Given the description of an element on the screen output the (x, y) to click on. 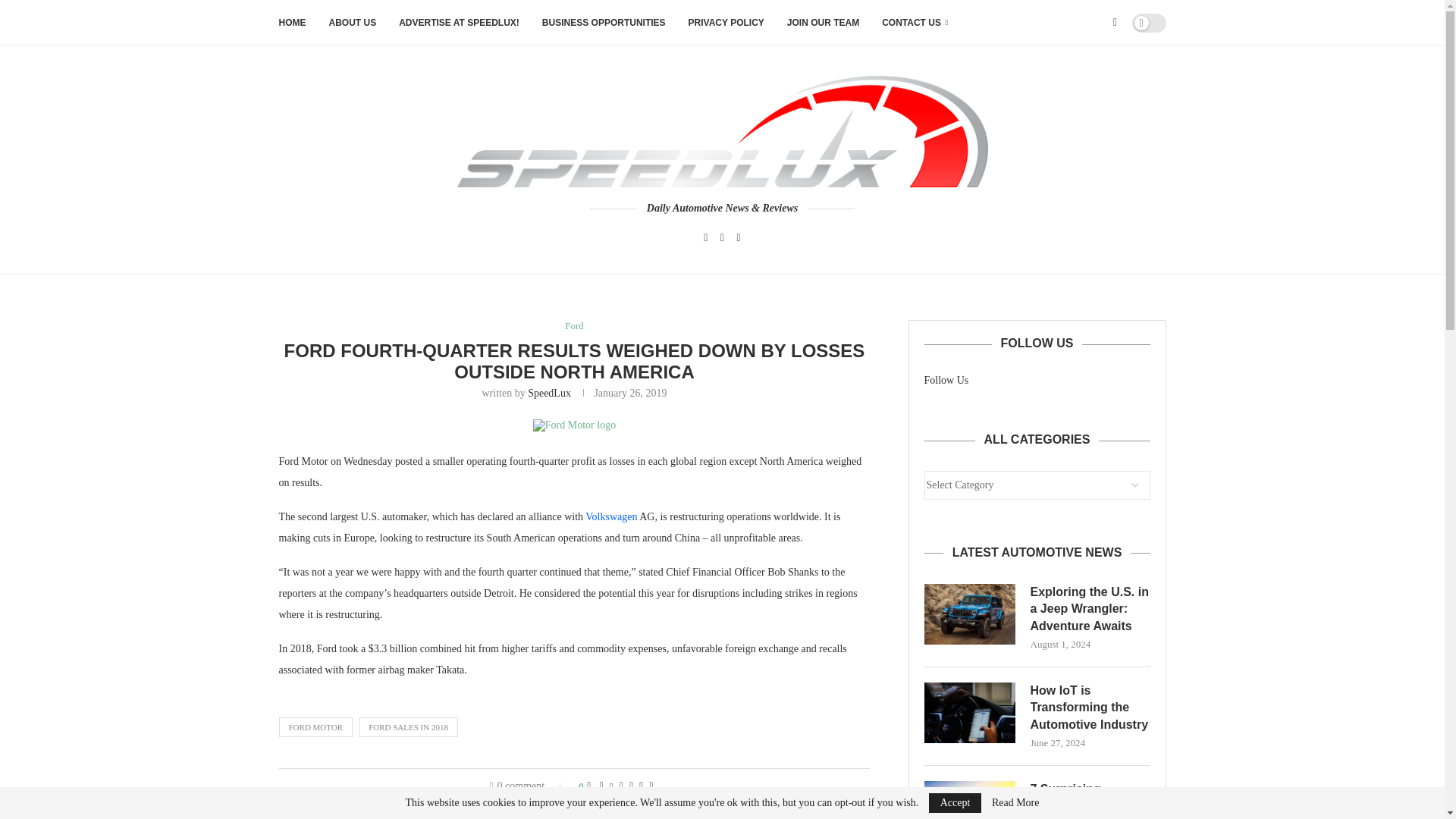
CONTACT US (915, 22)
ABOUT US (353, 22)
FORD SALES IN 2018 (408, 727)
ADVERTISE AT SPEEDLUX! (458, 22)
FORD MOTOR (316, 727)
JOIN OUR TEAM (823, 22)
Volkswagen (611, 516)
Ford-logo-0 (573, 425)
Ford (573, 326)
PRIVACY POLICY (726, 22)
